Given the description of an element on the screen output the (x, y) to click on. 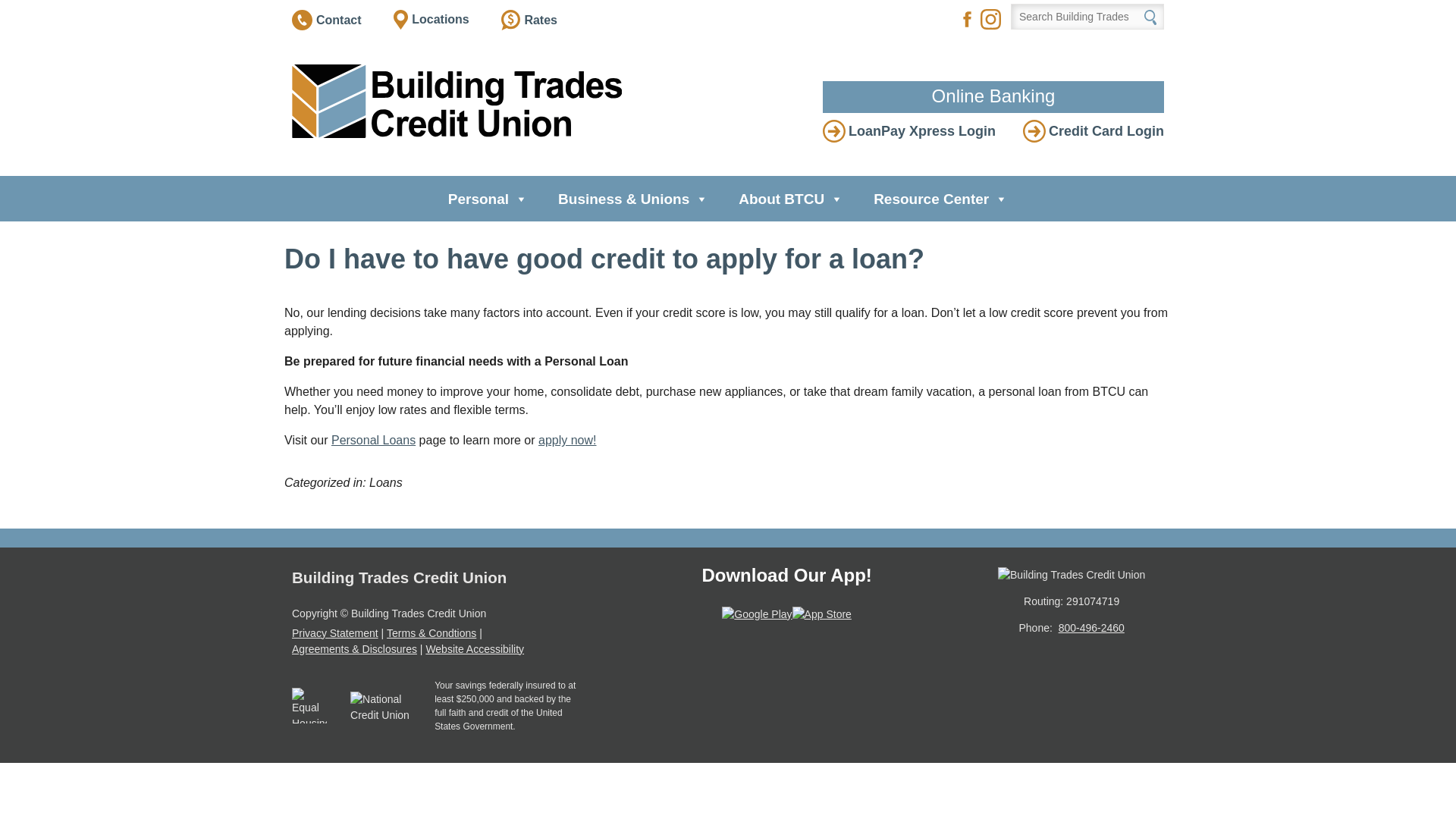
Building Trades Credit Union (456, 101)
Online Banking (992, 97)
Personal (487, 198)
Apple App Store (821, 614)
Google Play (757, 614)
Search site for: (1086, 16)
